Given the description of an element on the screen output the (x, y) to click on. 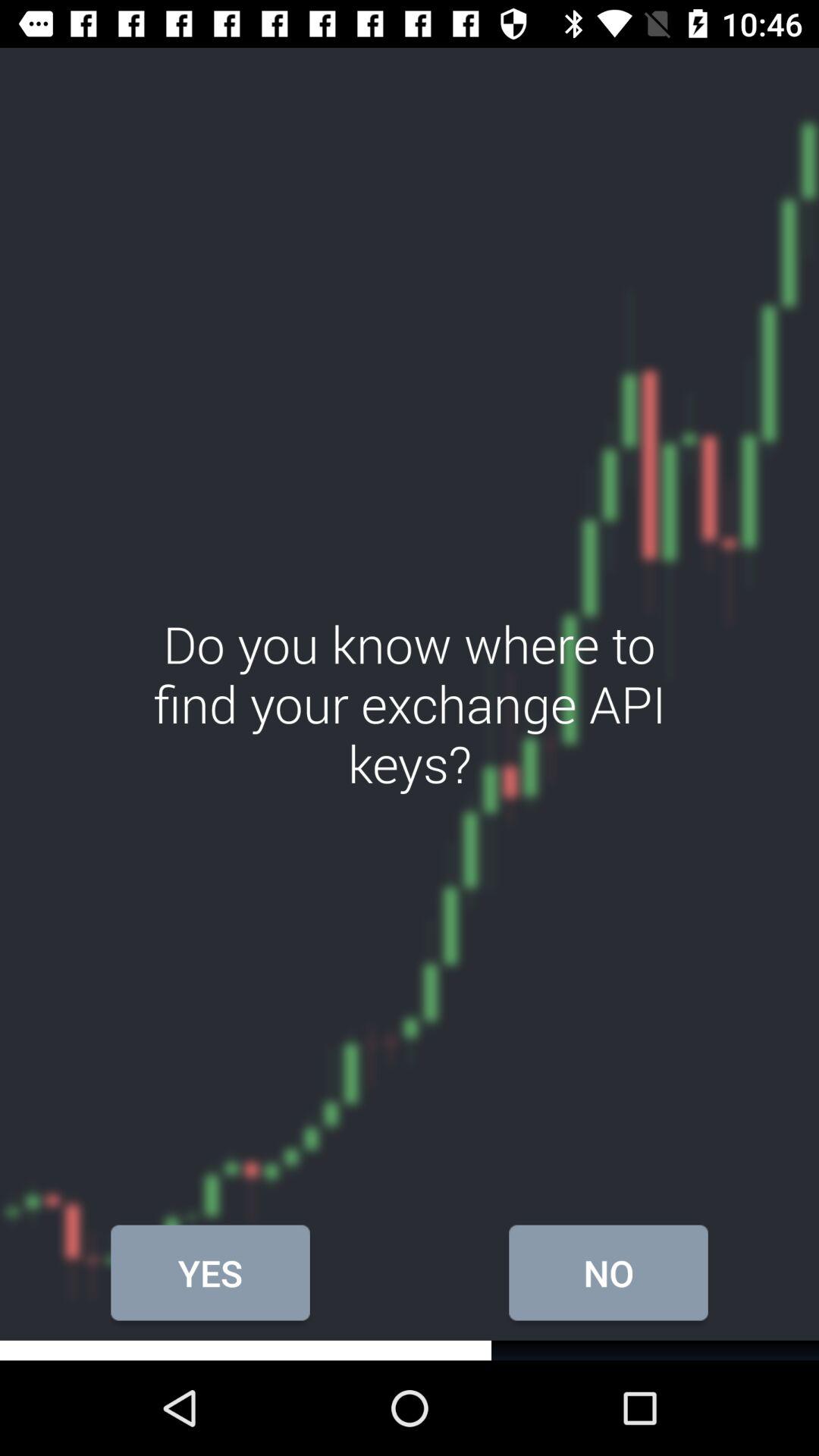
open the item at the bottom right corner (608, 1272)
